Given the description of an element on the screen output the (x, y) to click on. 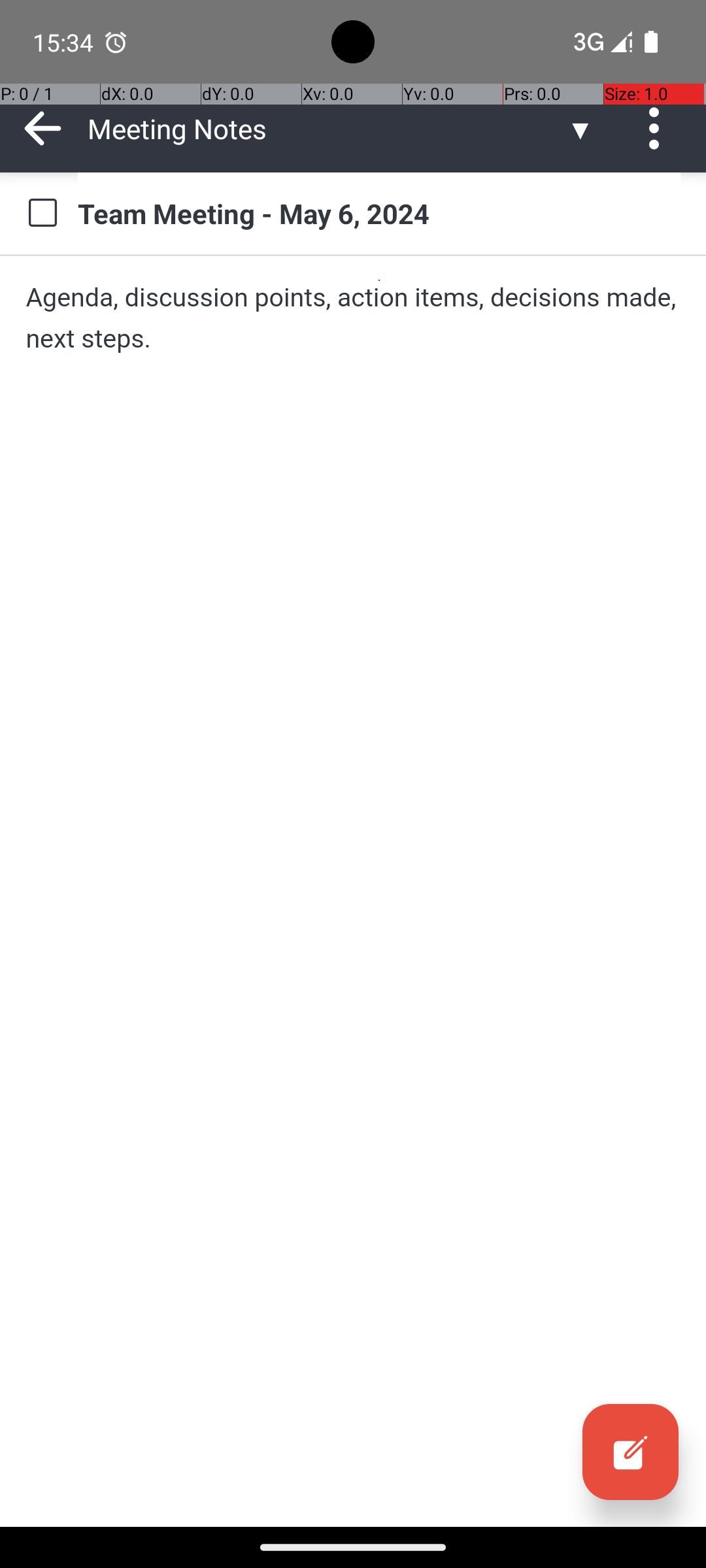
Agenda, discussion points, action items, decisions made, next steps. Element type: android.widget.TextView (352, 317)
